Given the description of an element on the screen output the (x, y) to click on. 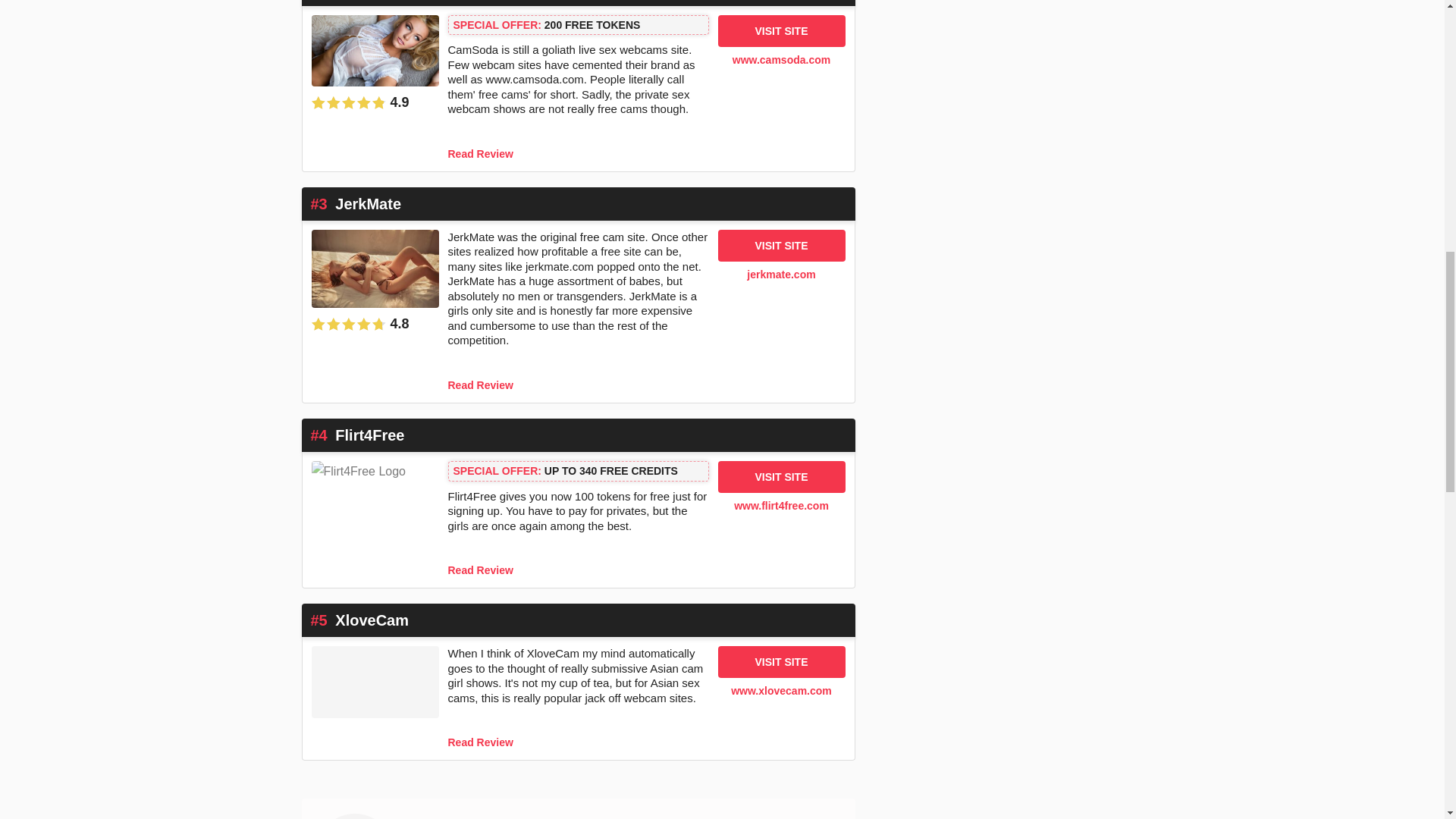
Our Score (348, 102)
Rated by our team (374, 102)
Visit www.xlovecam.com (373, 698)
Rated by our team (374, 323)
Our Score (348, 323)
Visit www.flirt4free.com (373, 519)
